Given the description of an element on the screen output the (x, y) to click on. 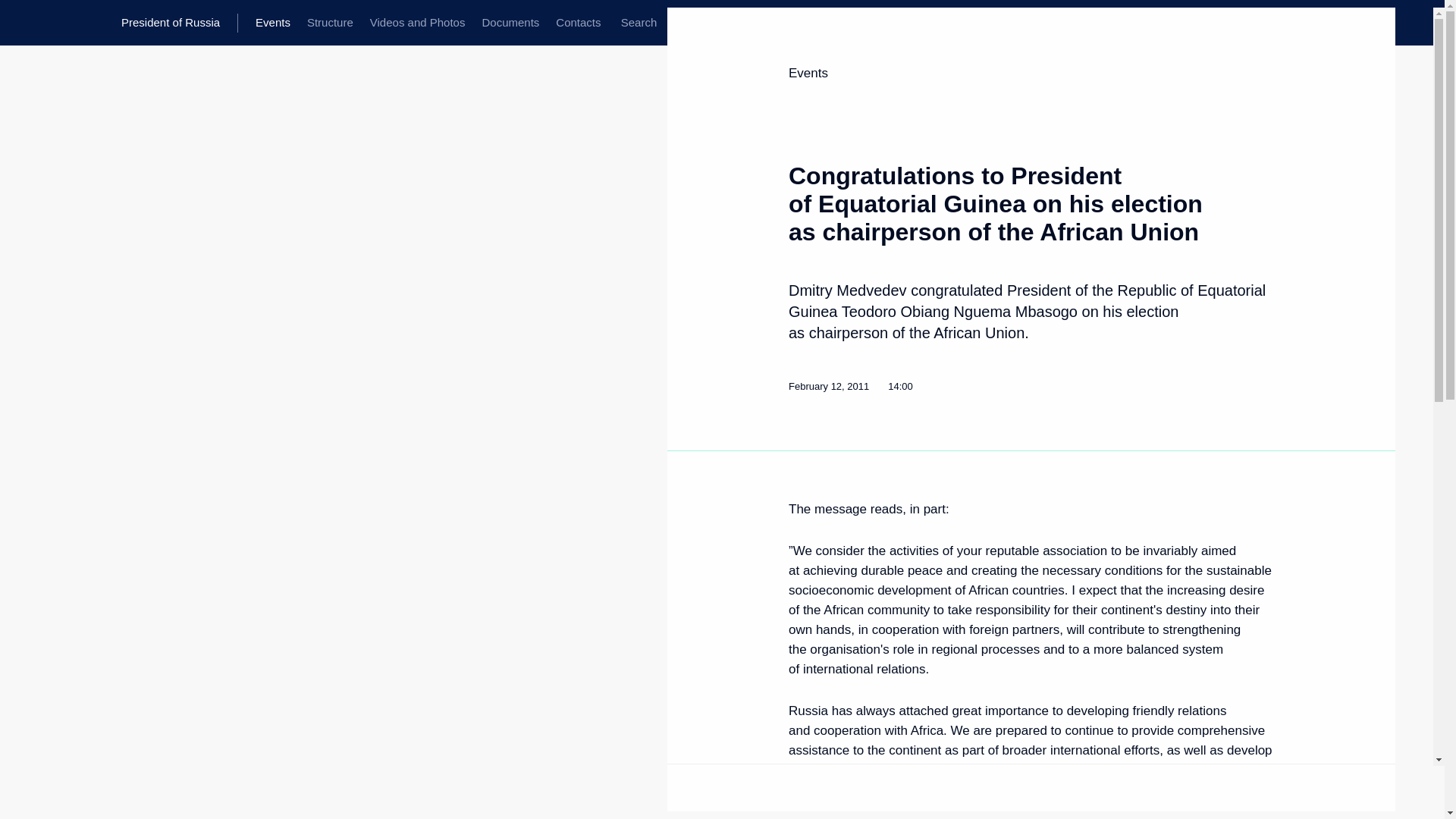
Documents (510, 22)
Videos and Photos (417, 22)
Share (1253, 784)
Structure (329, 22)
President of Russia (179, 22)
Search (638, 22)
Events (272, 22)
Text (798, 786)
Contacts (577, 22)
Portal Menu (24, 22)
